Given the description of an element on the screen output the (x, y) to click on. 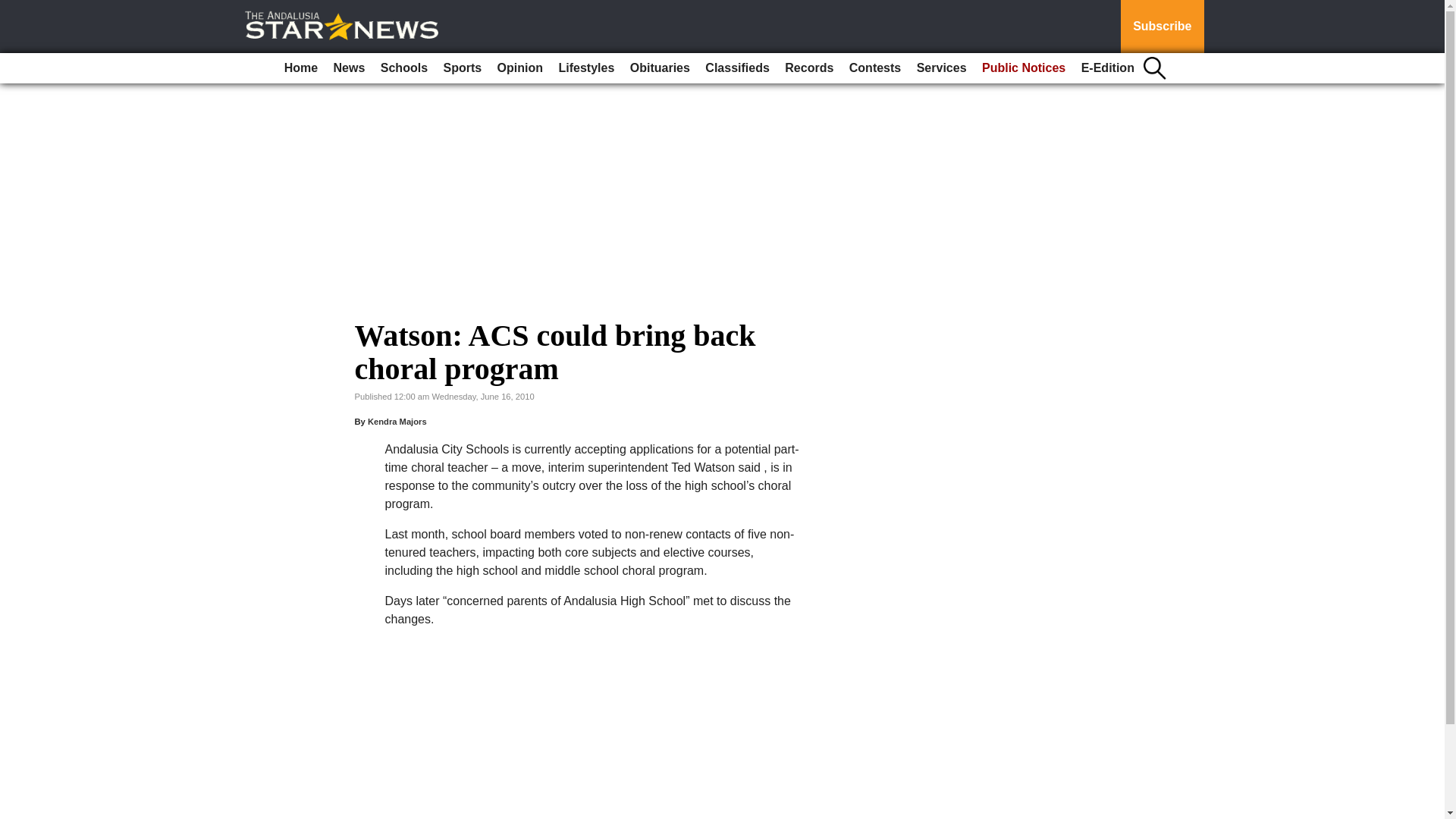
Home (300, 68)
Classifieds (736, 68)
Contests (875, 68)
Schools (403, 68)
Public Notices (1023, 68)
Records (809, 68)
Sports (461, 68)
Kendra Majors (397, 420)
Services (941, 68)
Opinion (520, 68)
